Given the description of an element on the screen output the (x, y) to click on. 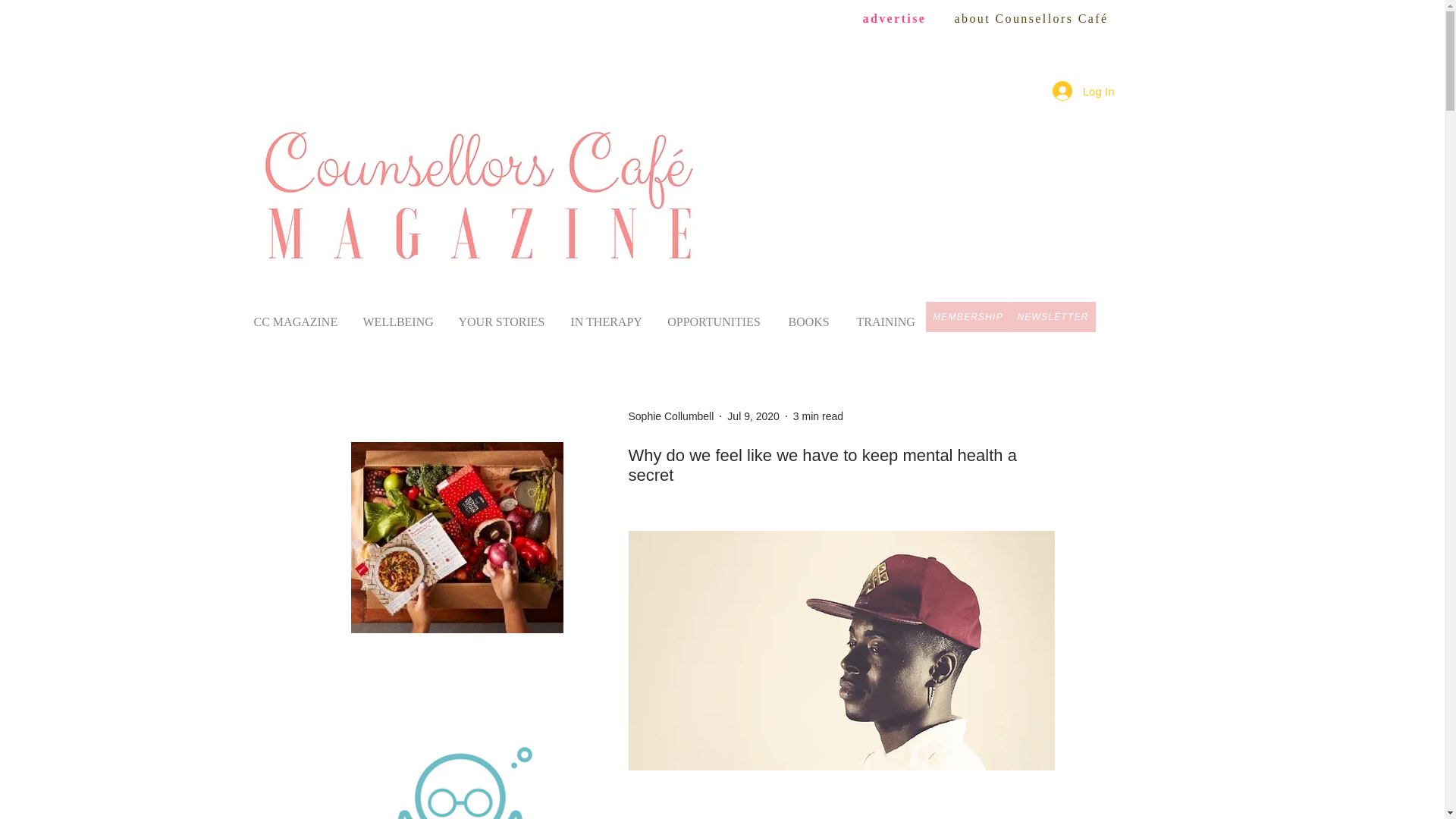
WELLBEING (396, 315)
Log In (1083, 90)
Sophie Collumbell (670, 415)
advertise (894, 18)
YOUR STORIES (500, 315)
NEWSLETTER (1052, 317)
IN THERAPY (604, 315)
OPPORTUNITIES (713, 315)
BOOKS (808, 315)
3 min read (818, 415)
Sophie Collumbell (670, 415)
Jul 9, 2020 (752, 415)
CC MAGAZINE (294, 315)
MEMBERSHIP (967, 317)
